Given the description of an element on the screen output the (x, y) to click on. 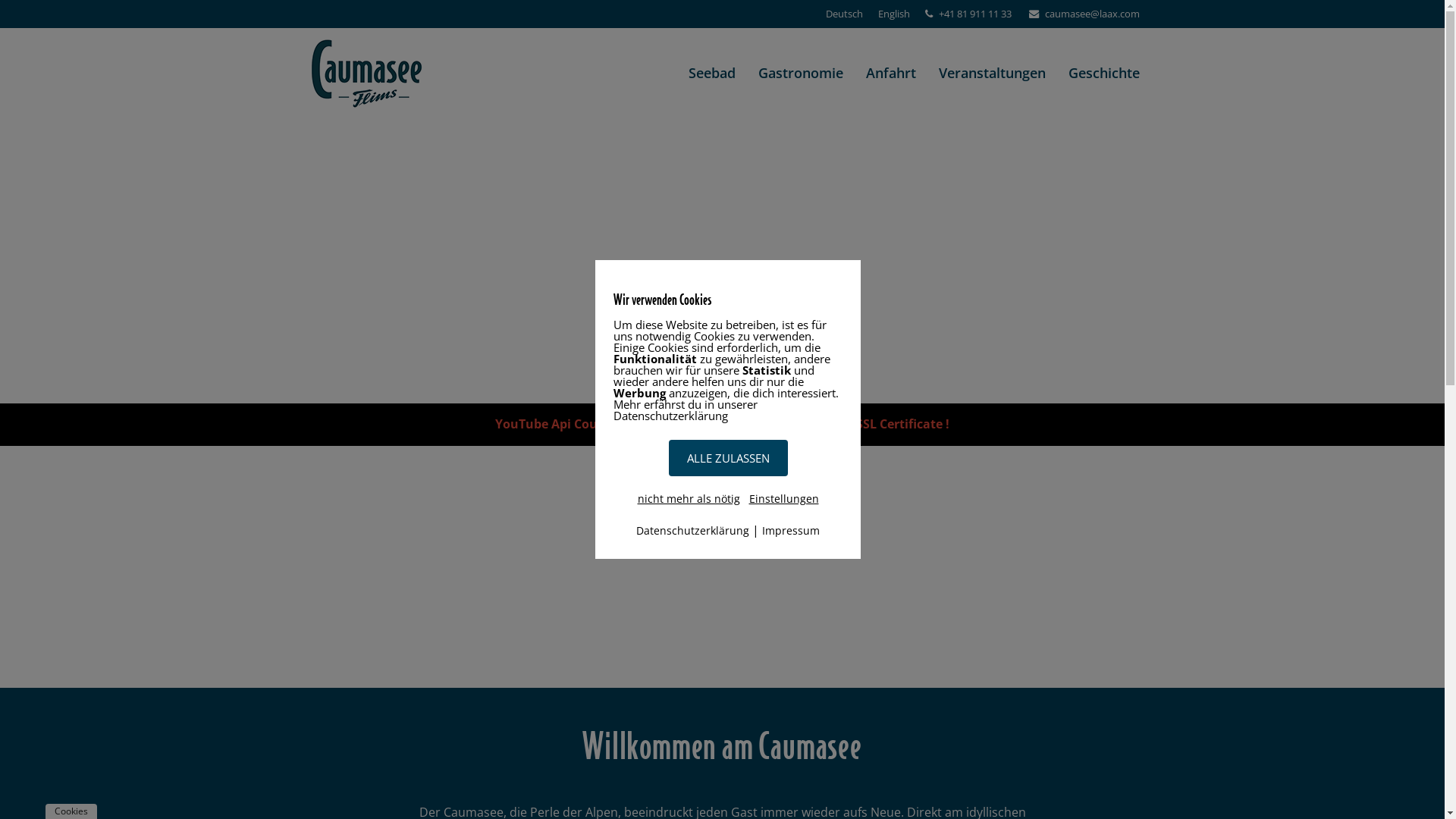
Anfahrt Element type: text (889, 73)
ALLE ZULASSEN Element type: text (727, 457)
Impressum Element type: text (790, 530)
Gastronomie Element type: text (799, 73)
caumasee@laax.com Element type: text (1091, 13)
+41 81 911 11 33 Element type: text (974, 13)
Einstellungen Element type: text (783, 498)
Geschichte Element type: text (1104, 73)
Seebad Element type: text (711, 73)
Veranstaltungen Element type: text (991, 73)
Deutsch Element type: text (843, 13)
English Element type: text (894, 13)
